Given the description of an element on the screen output the (x, y) to click on. 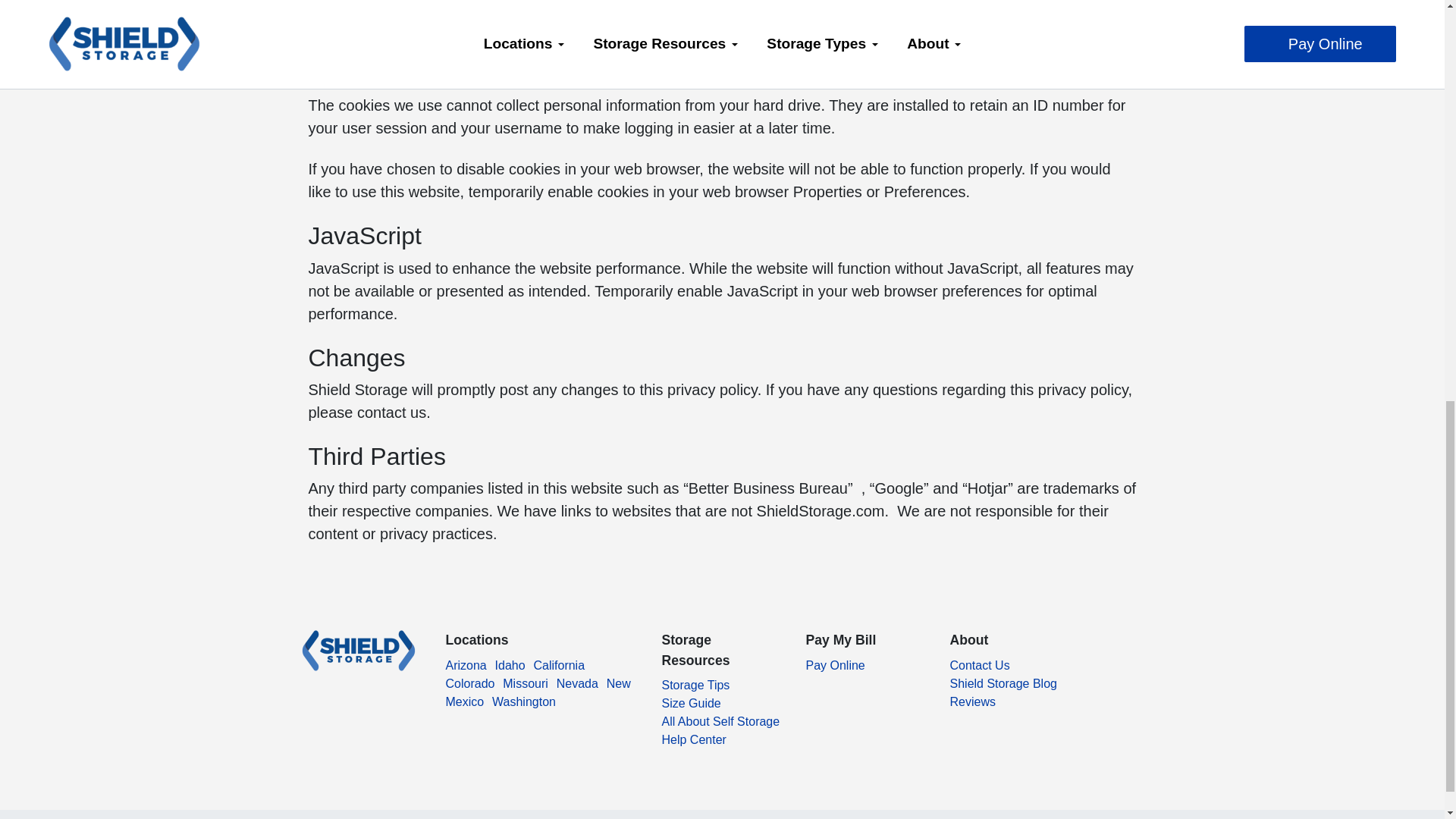
Colorado (470, 688)
Nevada (577, 688)
Missouri (525, 688)
Arizona (465, 670)
California (558, 670)
Idaho (510, 670)
facebook (308, 707)
